Given the description of an element on the screen output the (x, y) to click on. 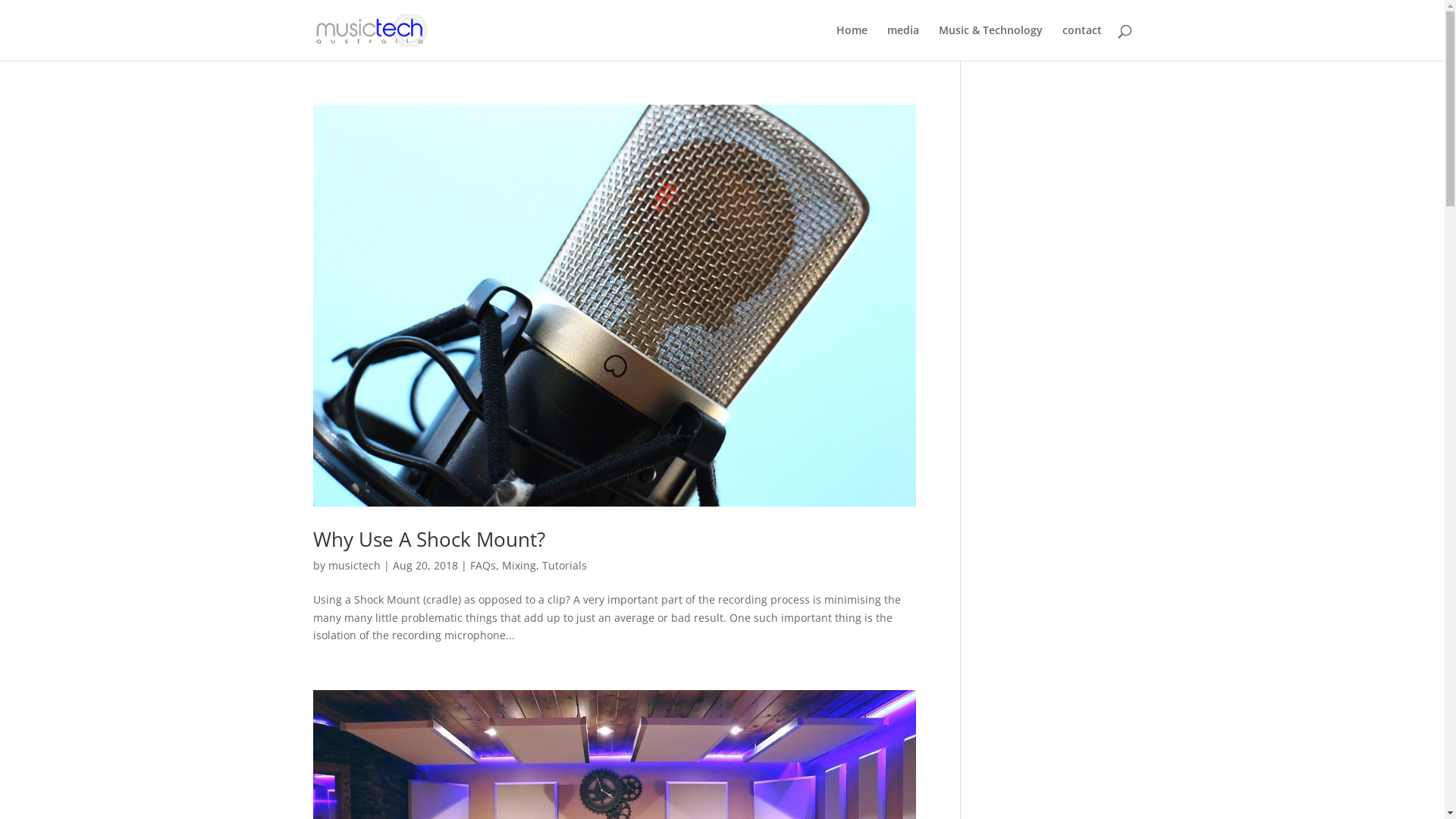
Mixing Element type: text (519, 565)
media Element type: text (903, 42)
Music & Technology Element type: text (990, 42)
Why Use A Shock Mount? Element type: text (428, 538)
contact Element type: text (1081, 42)
Home Element type: text (850, 42)
Tutorials Element type: text (563, 565)
musictech Element type: text (353, 565)
FAQs Element type: text (482, 565)
